Given the description of an element on the screen output the (x, y) to click on. 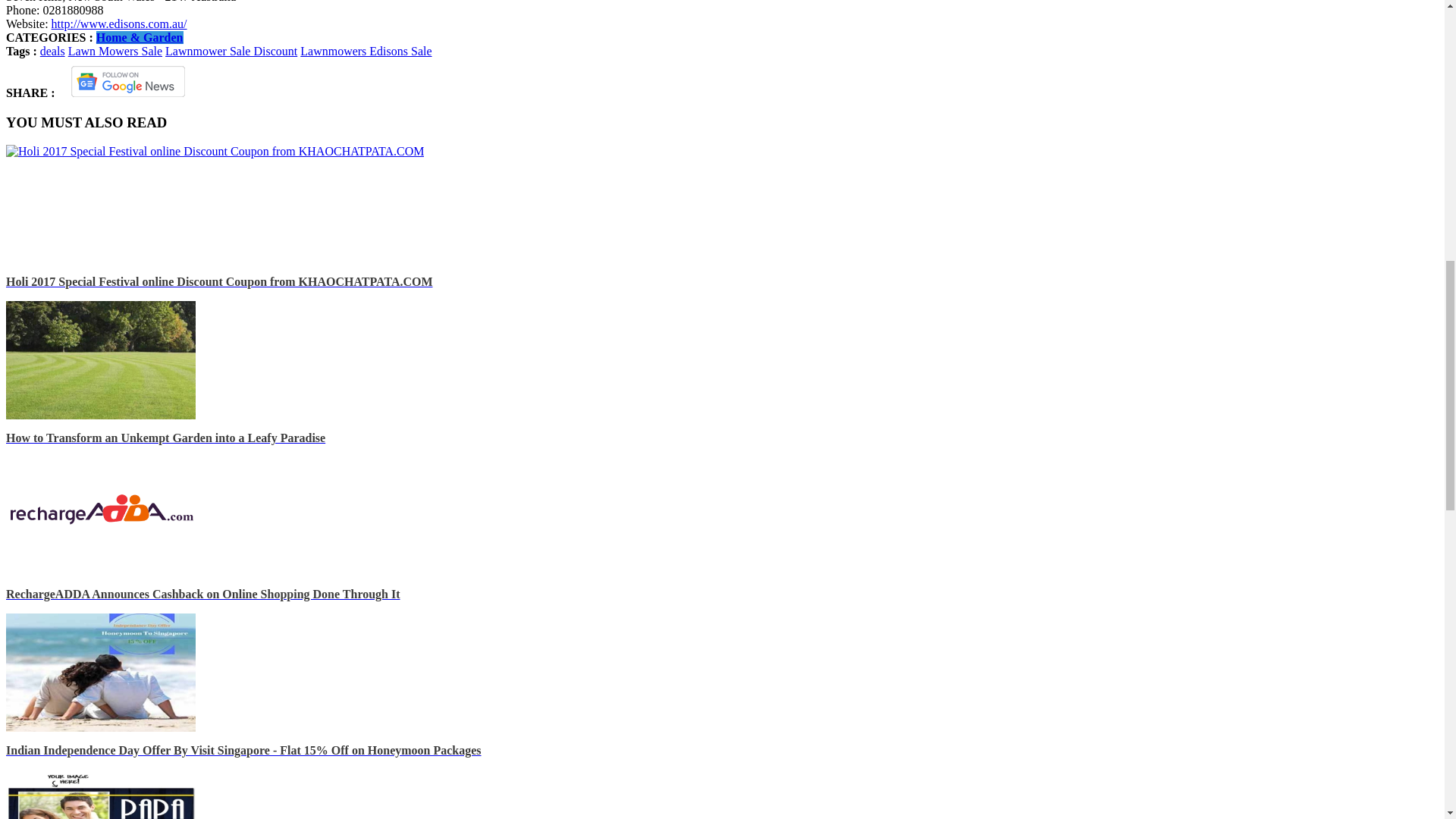
Lawnmowers Edisons Sale (364, 51)
Lawn Mowers Sale (114, 51)
Lawnmower Sale Discount (231, 51)
deals (52, 51)
